Given the description of an element on the screen output the (x, y) to click on. 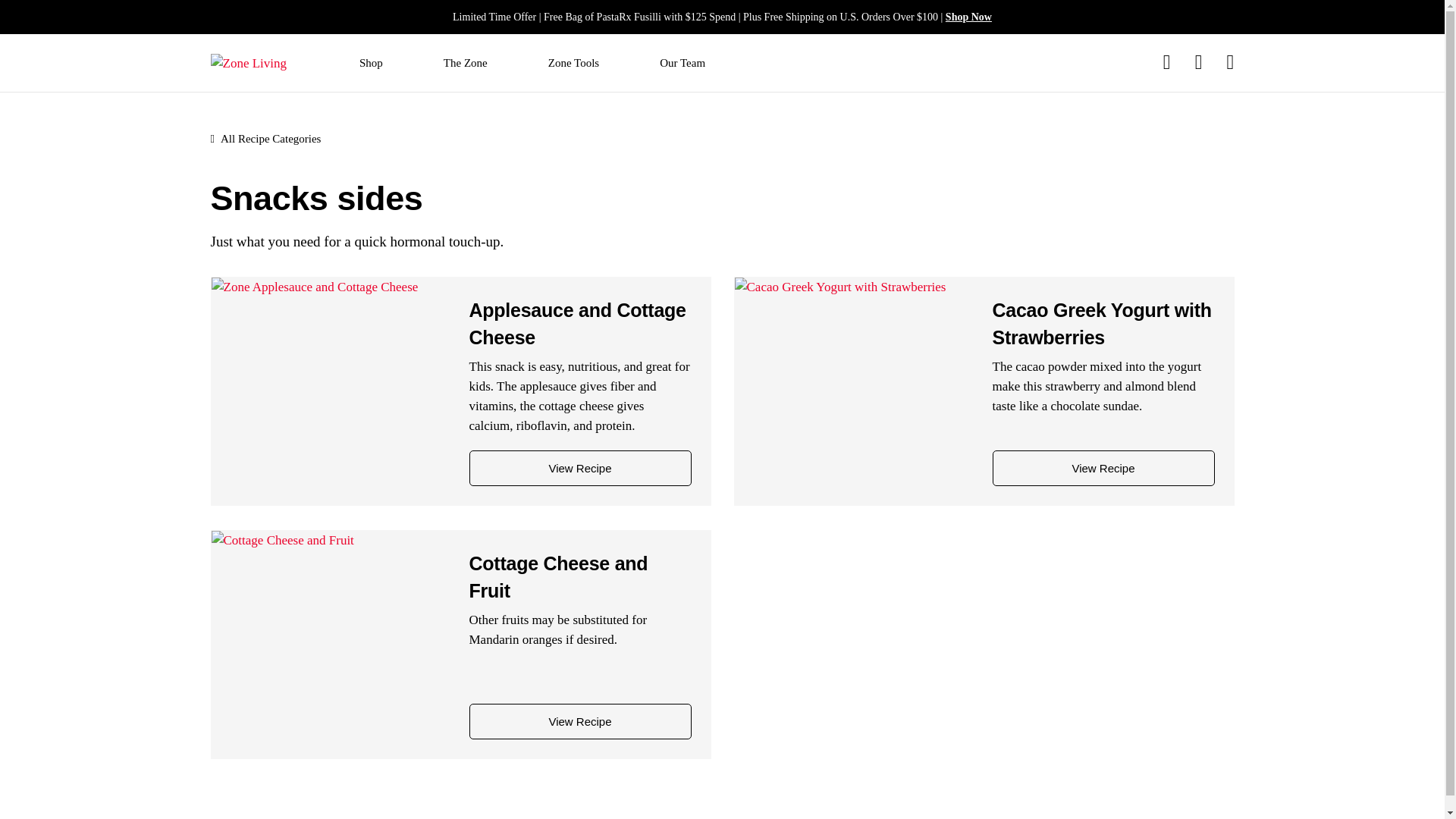
Shop (370, 63)
Zone Tools (573, 63)
Shop (370, 63)
Zone Living (248, 62)
The Zone (465, 63)
Shop Now (967, 16)
Zone Living (248, 63)
The Zone (465, 63)
